Given the description of an element on the screen output the (x, y) to click on. 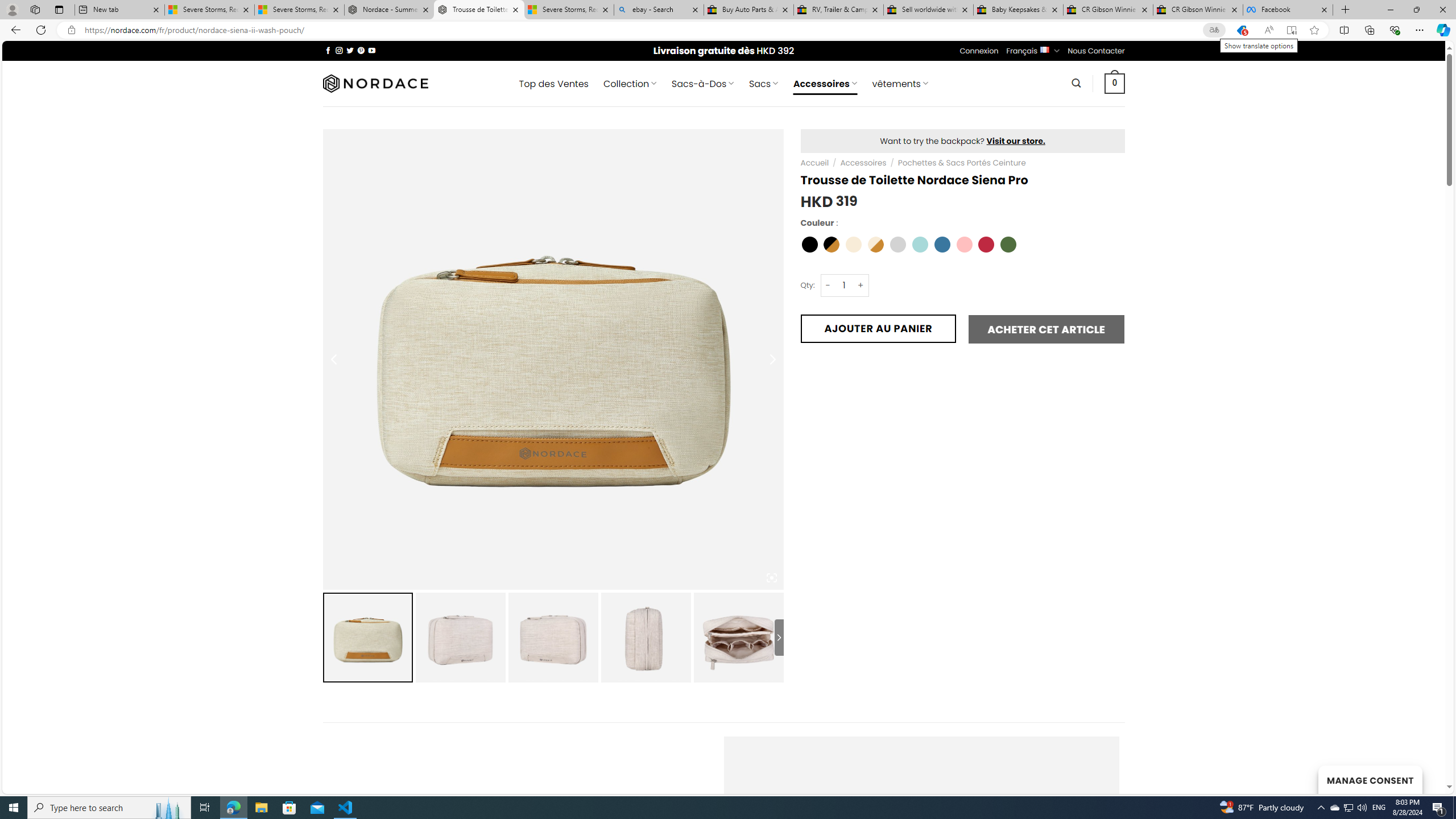
Recherche (1076, 83)
Connexion (978, 50)
Nous suivre sur Twitter (349, 49)
Nous Contacter (1096, 50)
Show translate options (1213, 29)
ACHETER CET ARTICLE (1046, 329)
